Given the description of an element on the screen output the (x, y) to click on. 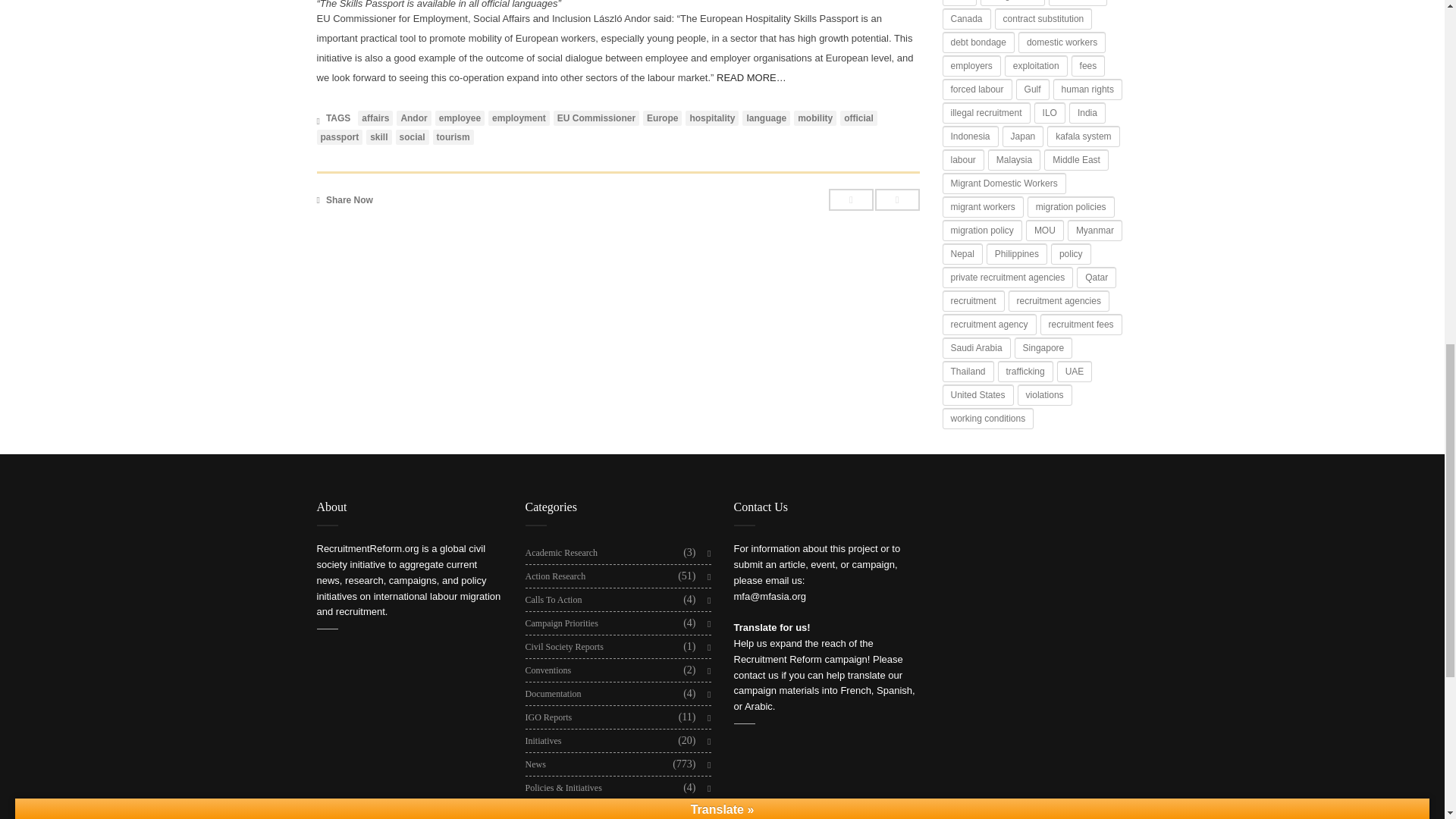
affairs (375, 118)
Andor (413, 118)
